Given the description of an element on the screen output the (x, y) to click on. 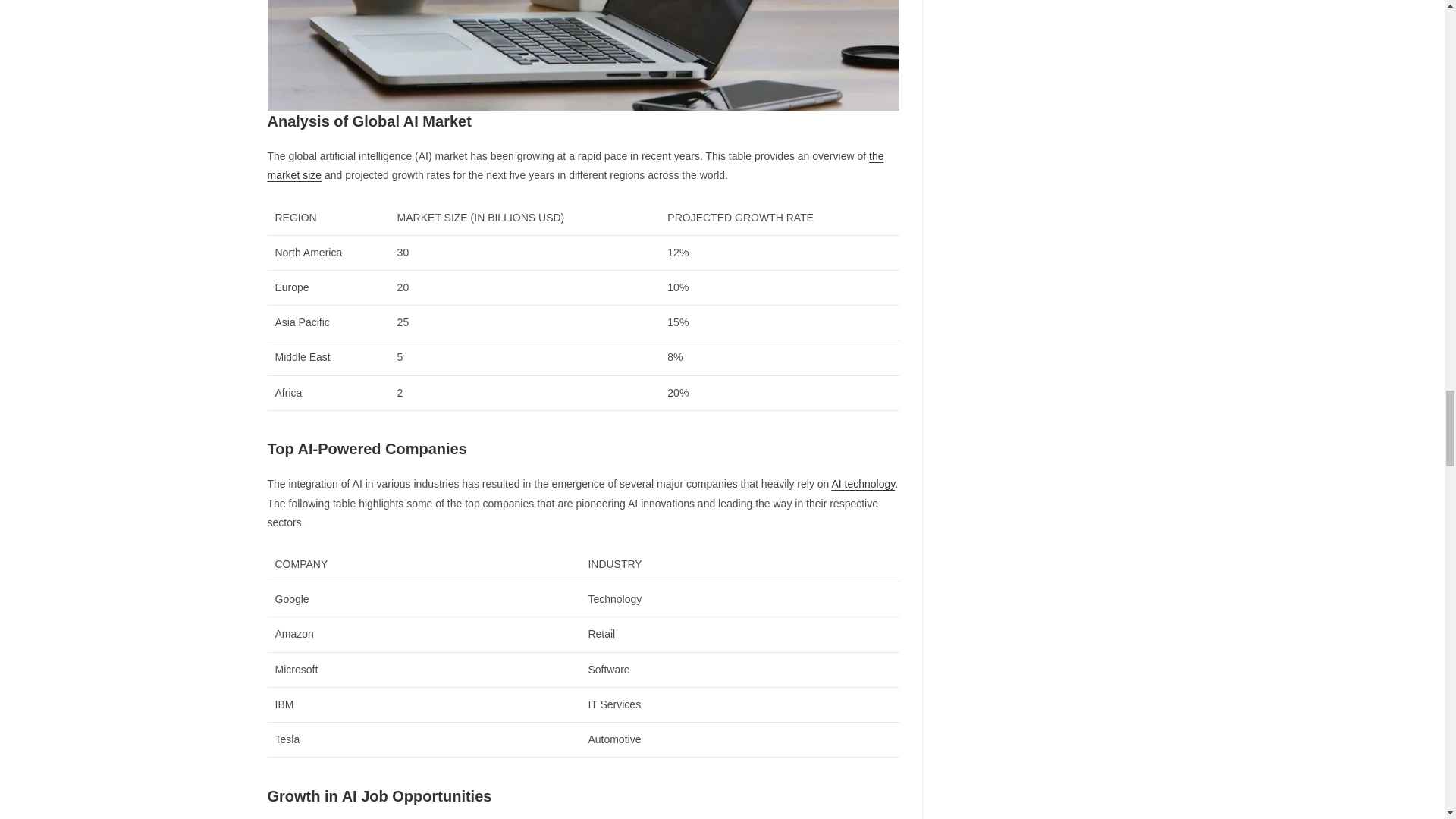
AI technology (863, 483)
the market size (574, 164)
Download AI Khodijah Yasir Lana. (582, 55)
